Given the description of an element on the screen output the (x, y) to click on. 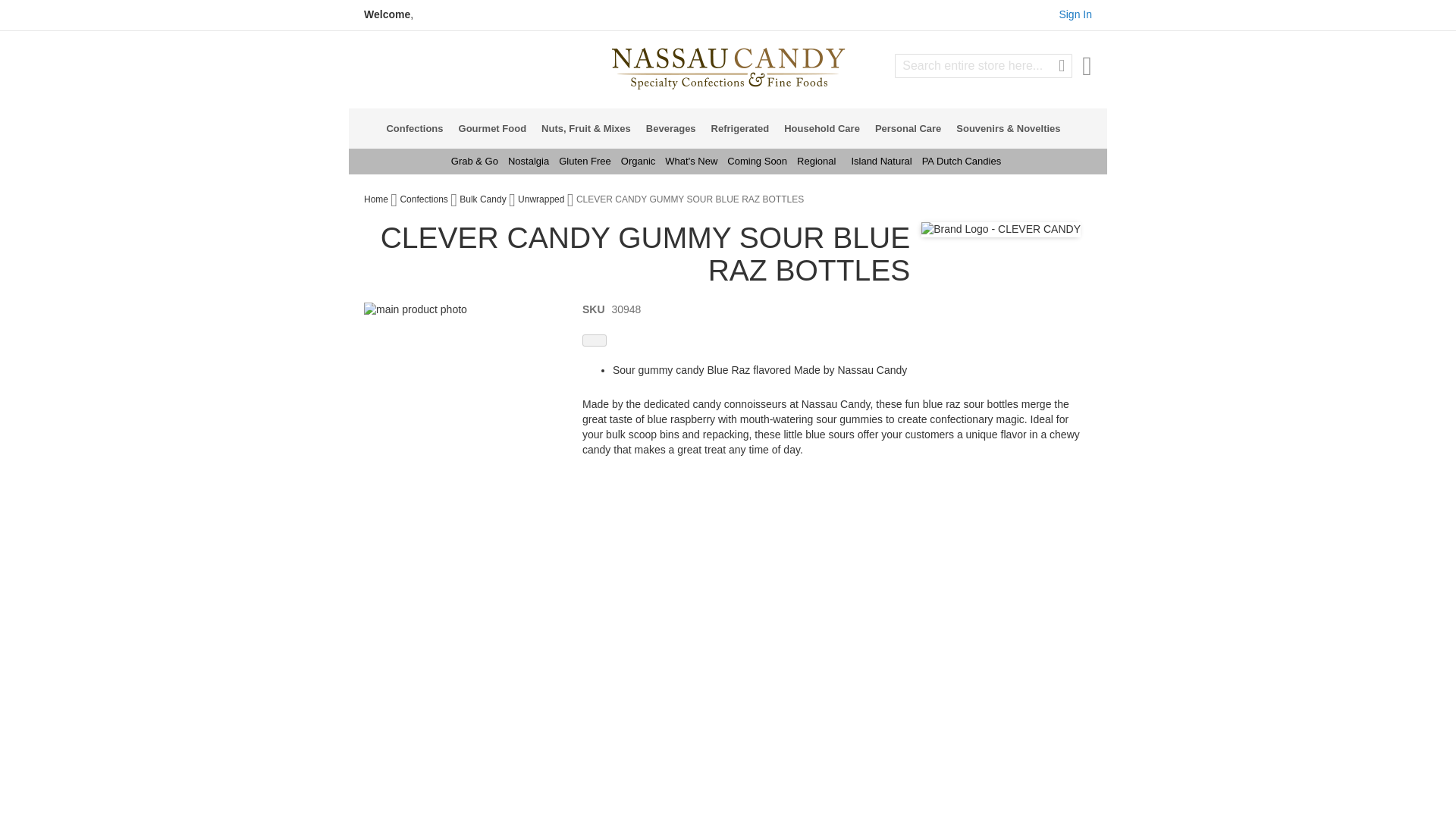
Sign In (1075, 14)
Go to Home Page (377, 199)
Gourmet Food (496, 128)
Confections (418, 128)
